Given the description of an element on the screen output the (x, y) to click on. 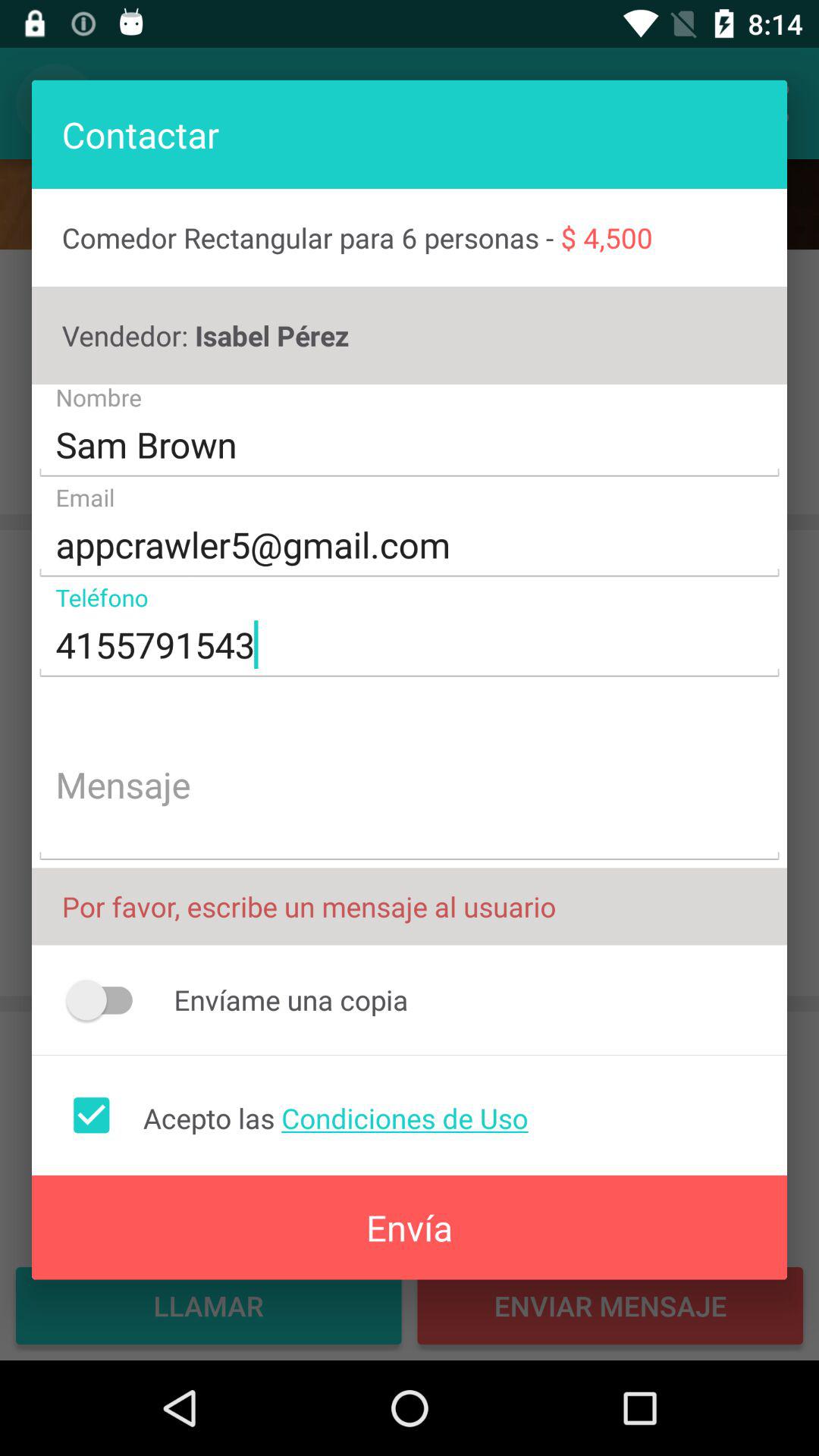
select icon below the por favor escribe icon (106, 1000)
